Given the description of an element on the screen output the (x, y) to click on. 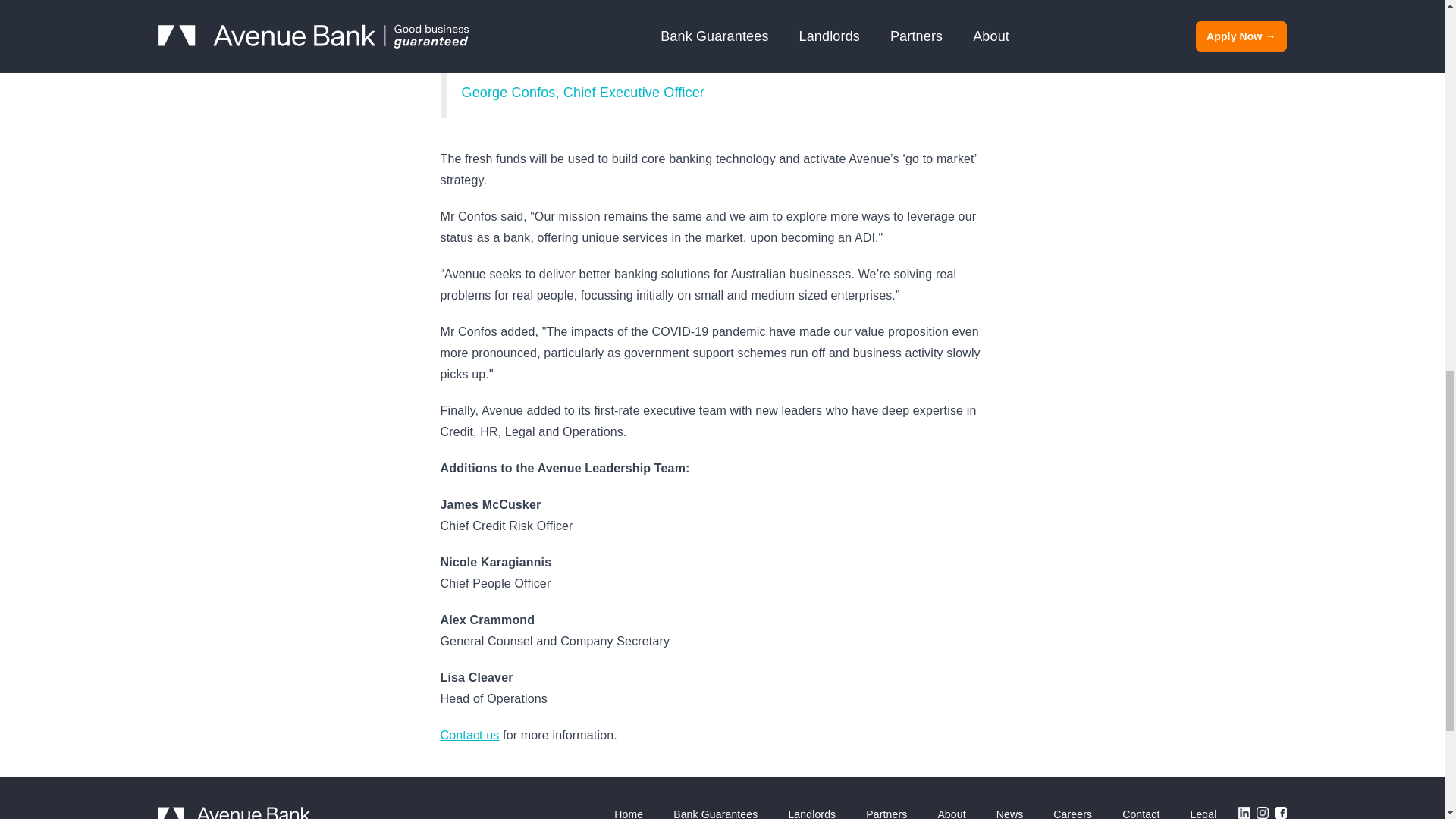
Landlords (811, 812)
Home (628, 812)
Legal (1202, 812)
Contact us (469, 735)
Partners (886, 812)
About (951, 812)
Careers (1071, 812)
Contact (1141, 812)
News (1009, 812)
Bank Guarantees (715, 812)
